Given the description of an element on the screen output the (x, y) to click on. 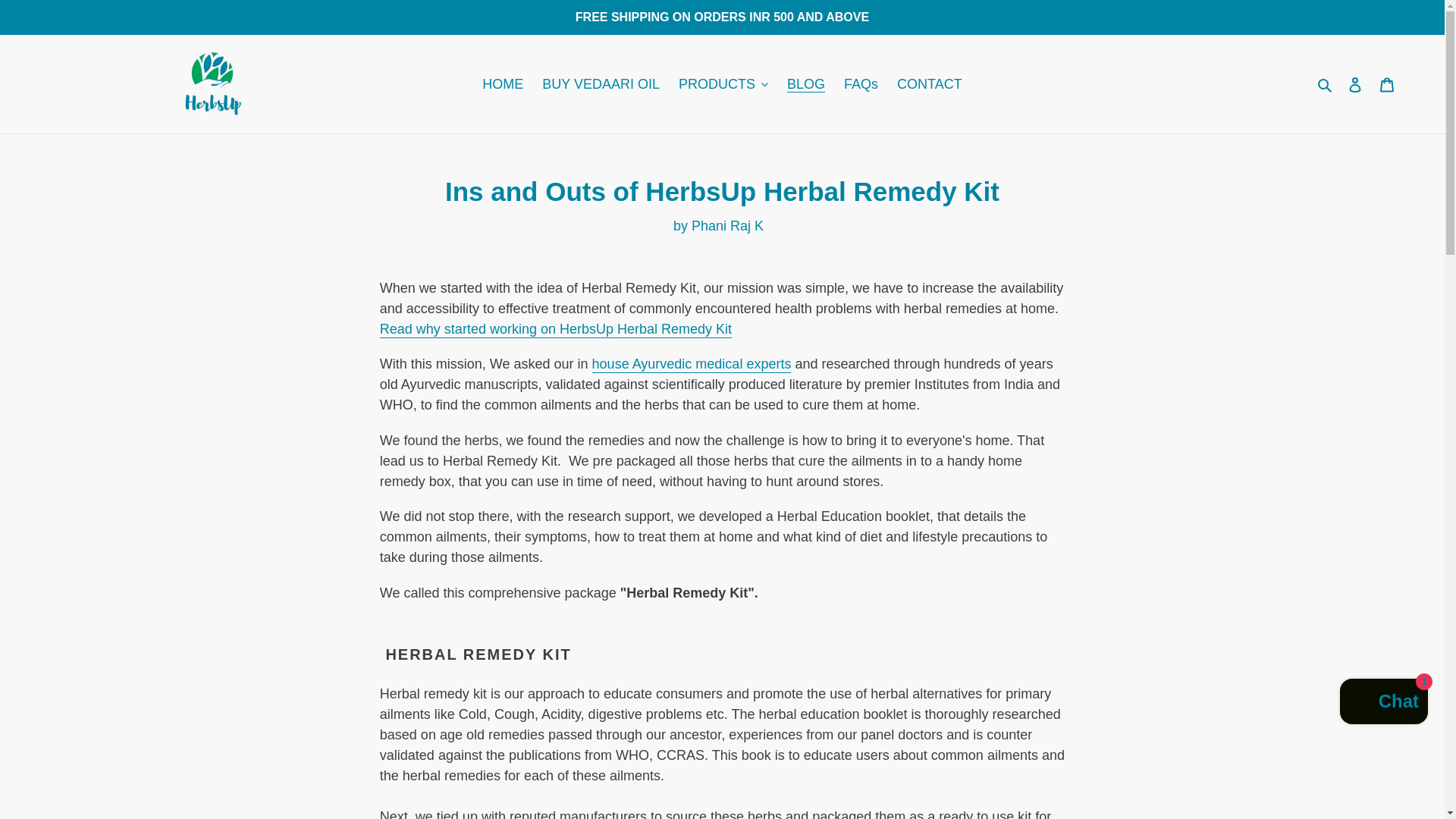
Search (1326, 83)
Cart (1387, 84)
Shopify online store chat (1383, 703)
HOME (502, 83)
FAQs (860, 83)
Read why started working on HerbsUp Herbal Remedy Kit (556, 329)
CONTACT (929, 83)
PRODUCTS (723, 83)
BLOG (805, 83)
BUY VEDAARI OIL (600, 83)
Log in (1355, 84)
Ayurvedic Experts at Ajjaram Wellness LLP (692, 364)
house Ayurvedic medical experts (692, 364)
The story behind HerbsUp Herbal Remedy Kit (556, 329)
